Given the description of an element on the screen output the (x, y) to click on. 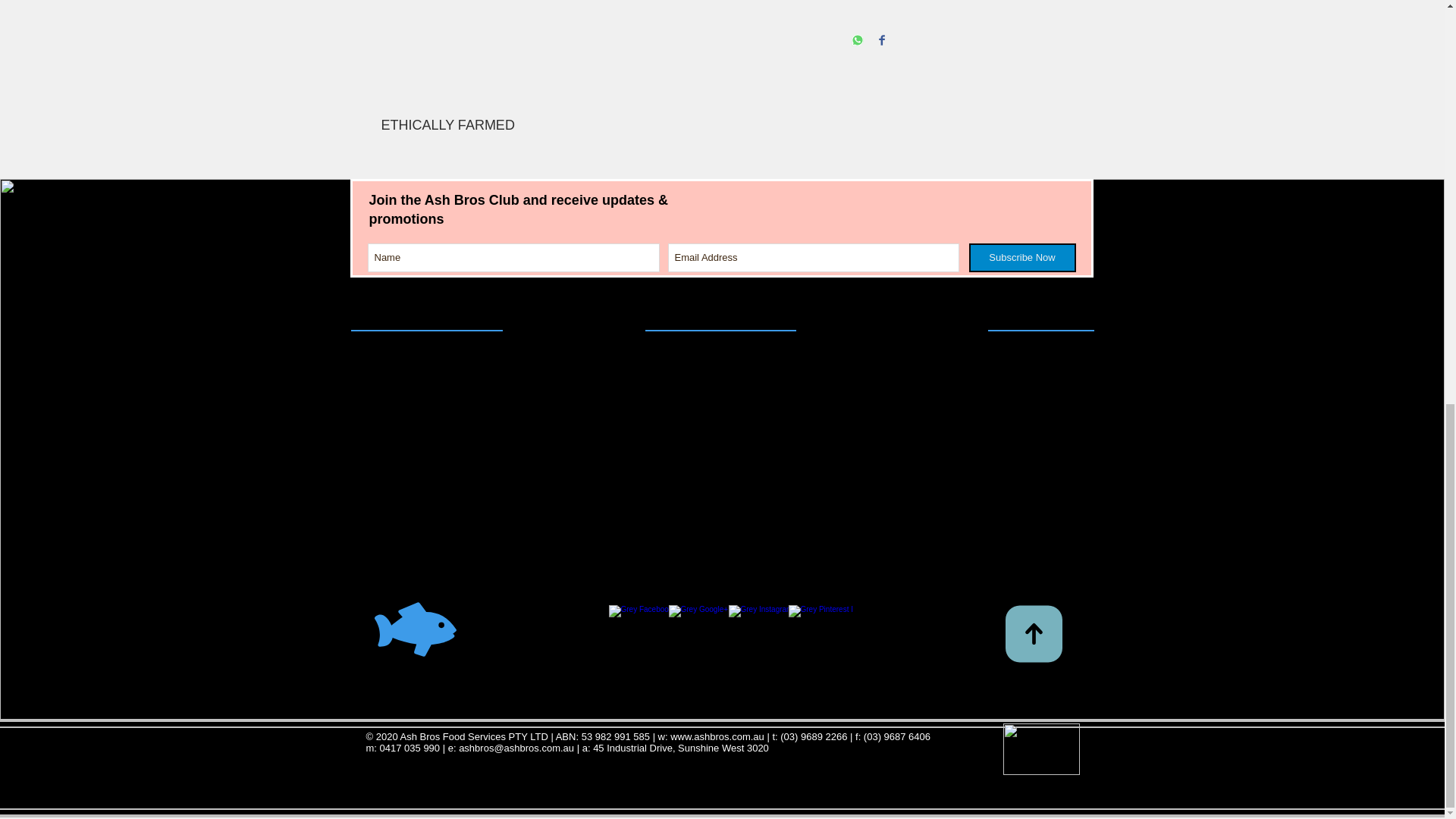
ABOUT US (1058, 381)
ONLINE ORDER (1044, 550)
CREDIT APPLICATION (722, 361)
RETAIL SHOP (1050, 462)
Subscribe Now (1022, 257)
CONTACT (1059, 361)
HACCP REGISTRATION (721, 455)
PERSONAL GUARANTEE (719, 550)
WHITE FISH (385, 455)
MARKET NEWS (1043, 530)
